Given the description of an element on the screen output the (x, y) to click on. 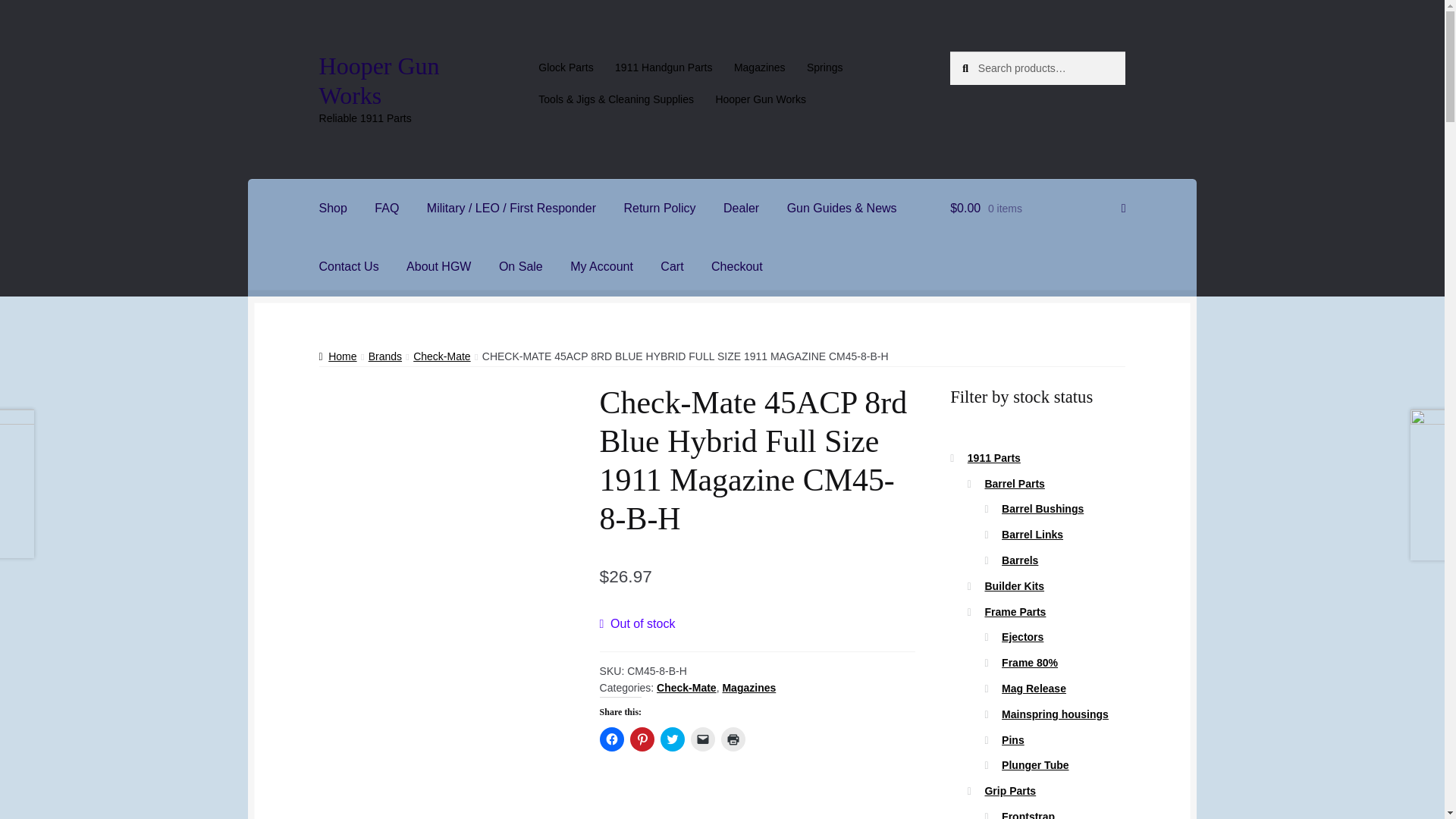
Click to email a link to a friend (702, 738)
Click to share on Pinterest (641, 738)
Glock Parts (565, 67)
Hooper Gun Works (378, 80)
Click to share on Twitter (672, 738)
Click to print (732, 738)
View your shopping cart (1037, 208)
Click to share on Facebook (611, 738)
1911 Handgun Parts (663, 67)
